Given the description of an element on the screen output the (x, y) to click on. 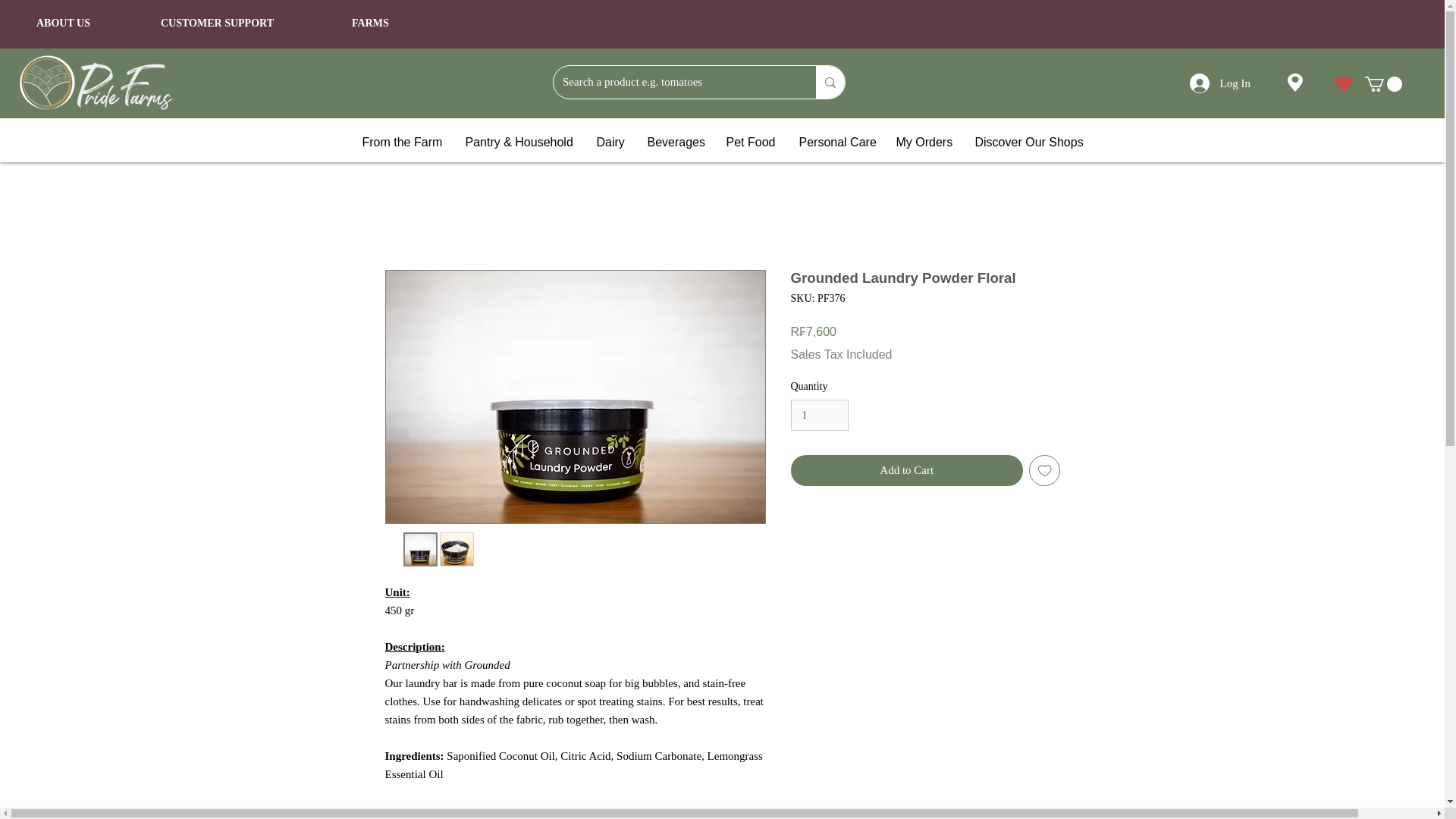
CUSTOMER SUPPORT (216, 22)
FARMS (370, 22)
ABOUT US (63, 22)
Discover Our Shops (1027, 142)
Log In (1219, 82)
1 (818, 414)
My Orders (922, 142)
